Given the description of an element on the screen output the (x, y) to click on. 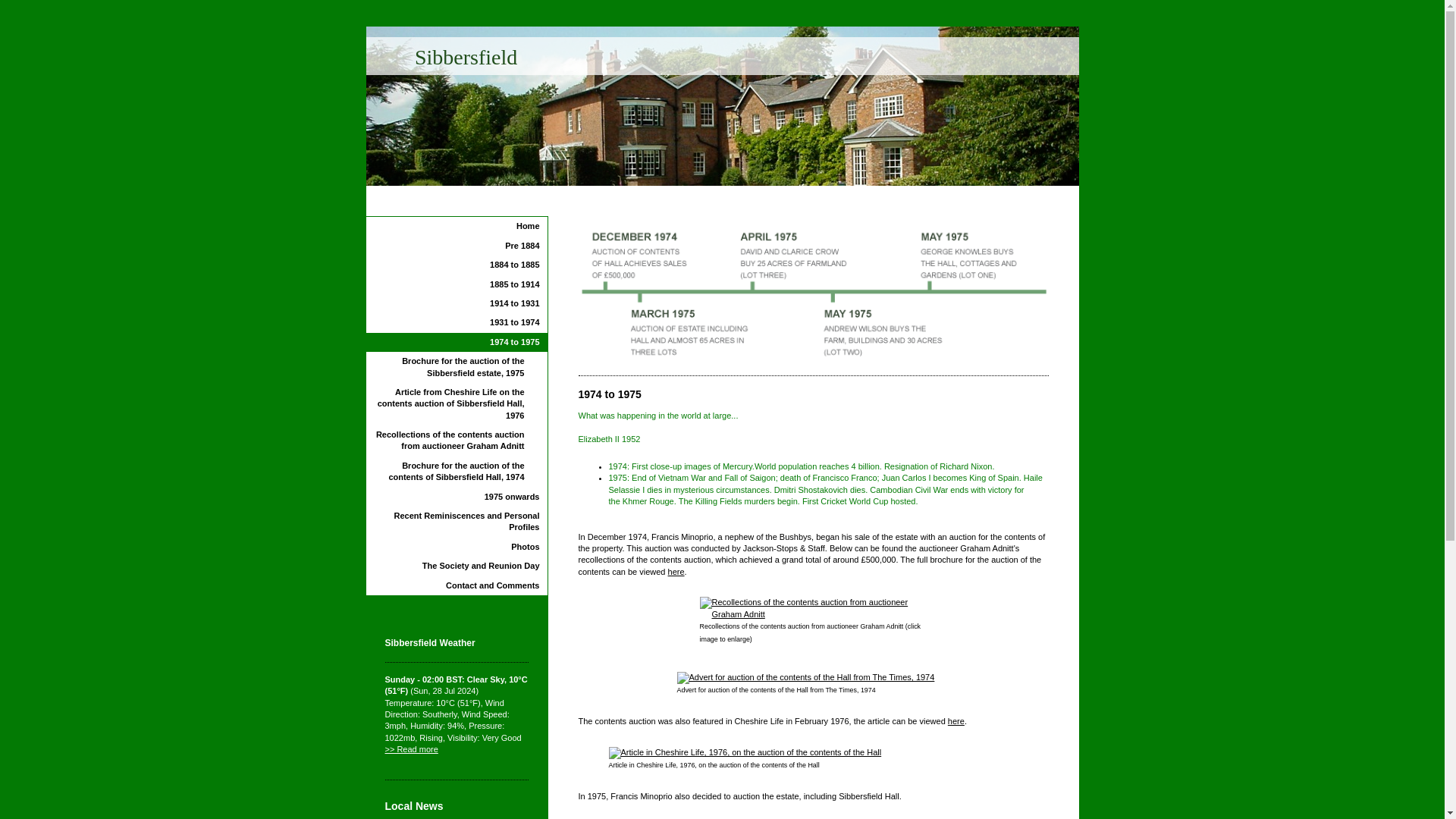
1974 to 1975 (456, 342)
1885 to 1914 (456, 284)
Home (456, 226)
Contact and Comments (456, 585)
1914 to 1931 (456, 303)
1975 onwards (456, 496)
1884 to 1885 (456, 264)
Recent Reminiscences and Personal Profiles (456, 521)
The Society and Reunion Day (456, 565)
1931 to 1974 (456, 322)
here (955, 720)
Brochure for the auction of the Sibbersfield estate, 1975 (456, 367)
